Given the description of an element on the screen output the (x, y) to click on. 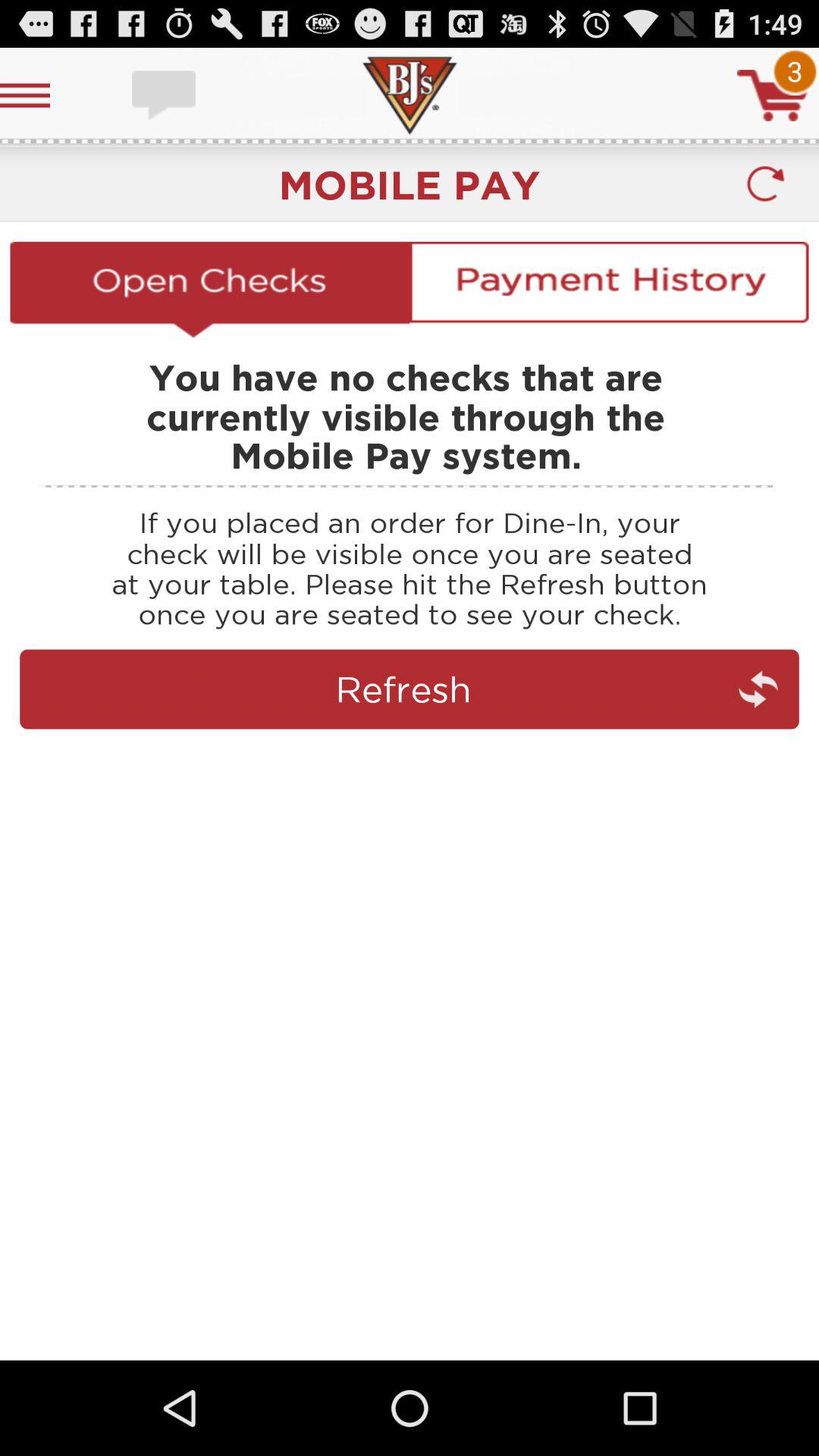
send message (165, 95)
